Given the description of an element on the screen output the (x, y) to click on. 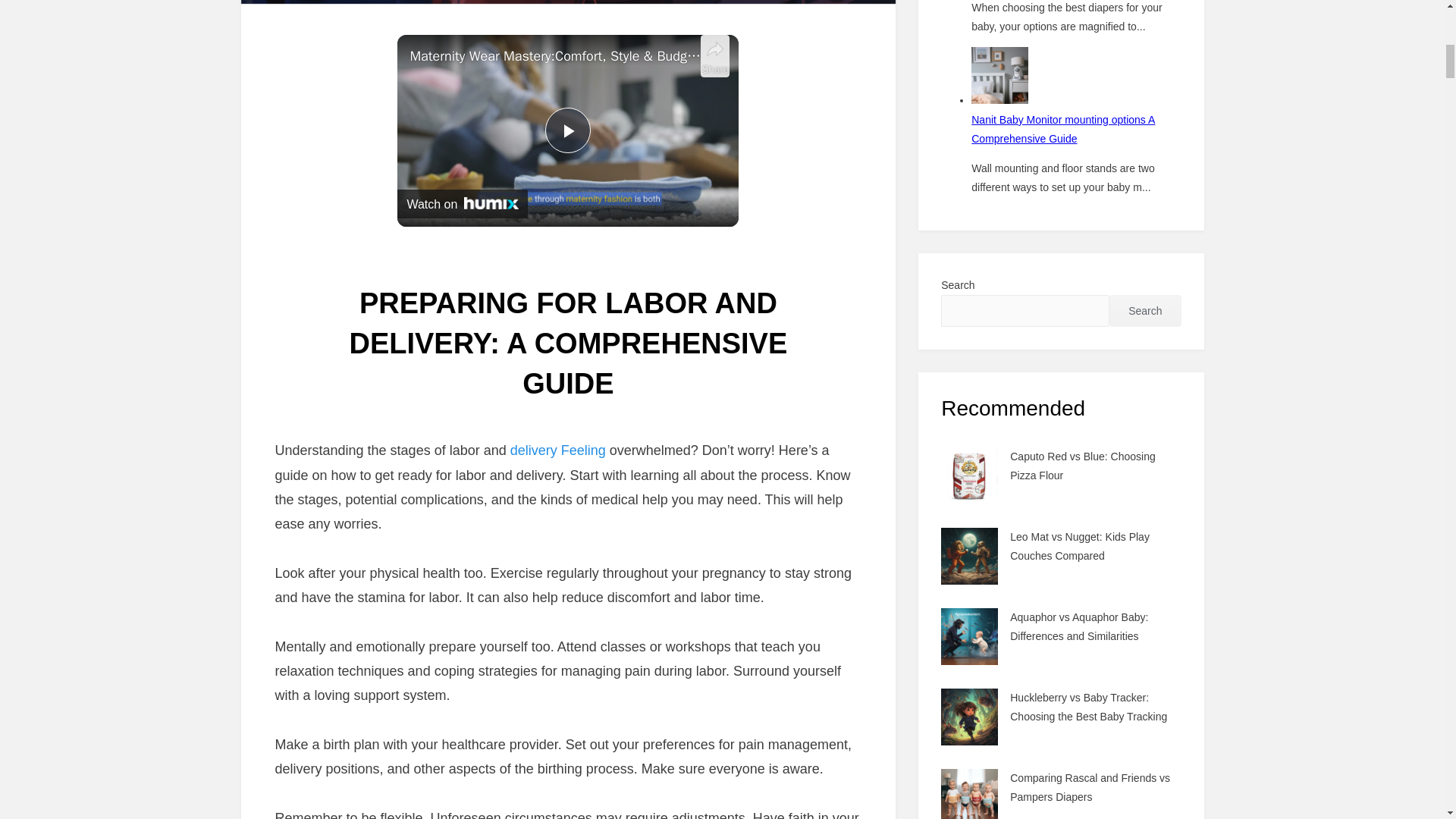
Share (714, 55)
Play Video (567, 130)
Julian (605, 420)
share (714, 55)
delivery Feeling (558, 450)
Watch on (462, 203)
Caputo Red vs Blue: Choosing Pizza Flour (1082, 465)
Play Video (567, 130)
August 3, 2023 (607, 420)
Search (1144, 310)
